Given the description of an element on the screen output the (x, y) to click on. 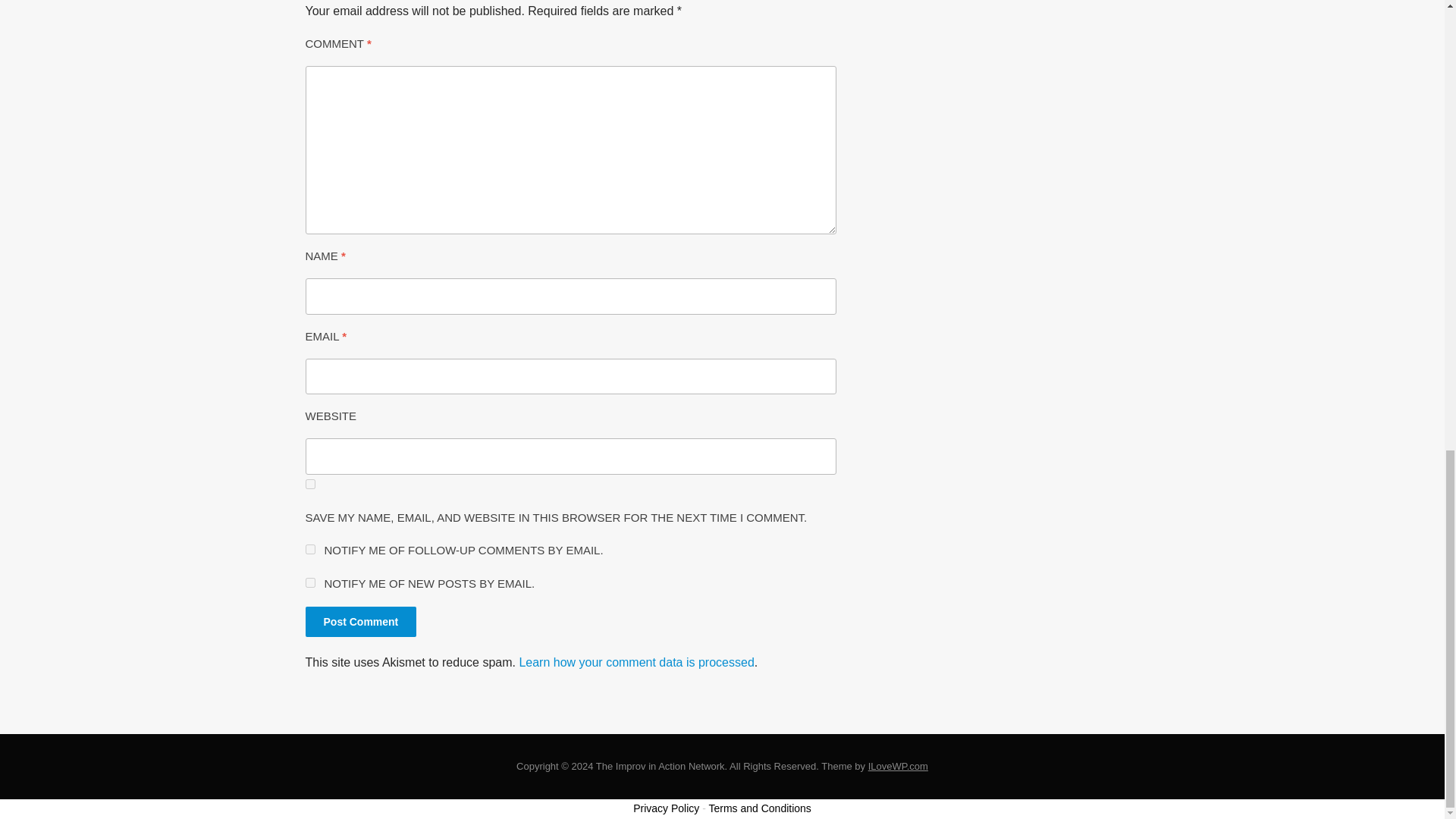
subscribe (309, 583)
yes (309, 483)
Post Comment (360, 621)
subscribe (309, 549)
Podcast WordPress Themes (897, 766)
